Given the description of an element on the screen output the (x, y) to click on. 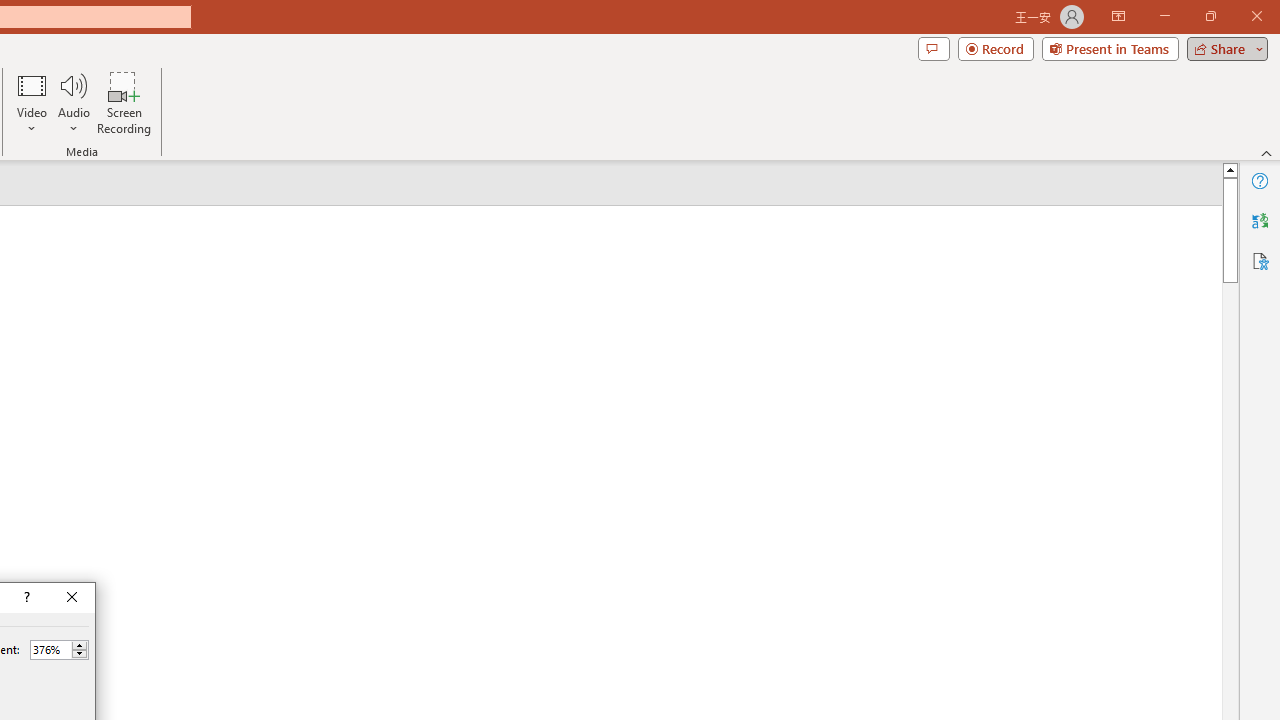
Translator (1260, 220)
Line up (1230, 169)
